Given the description of an element on the screen output the (x, y) to click on. 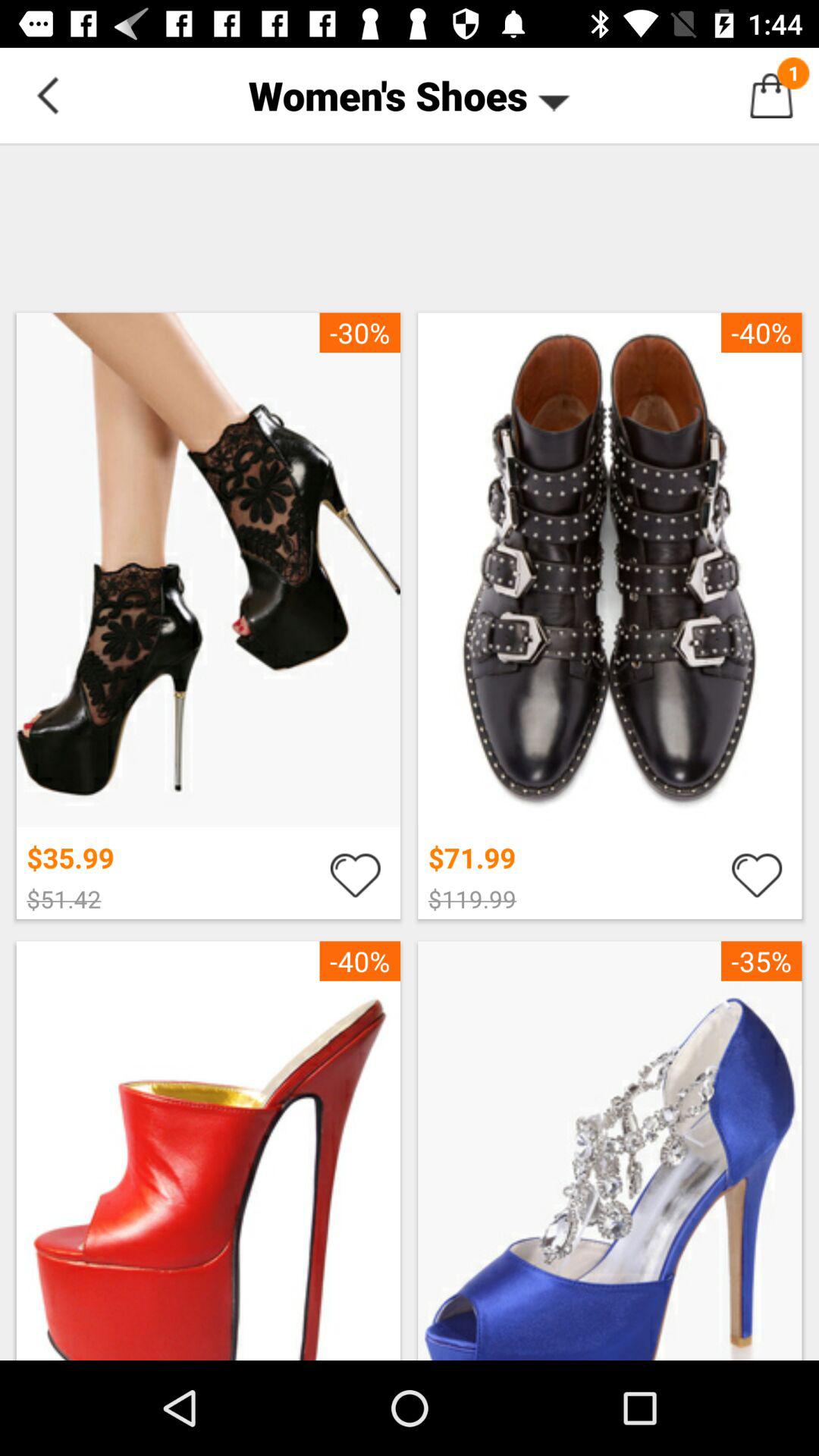
select this heart to favorite a specific item (756, 874)
